Given the description of an element on the screen output the (x, y) to click on. 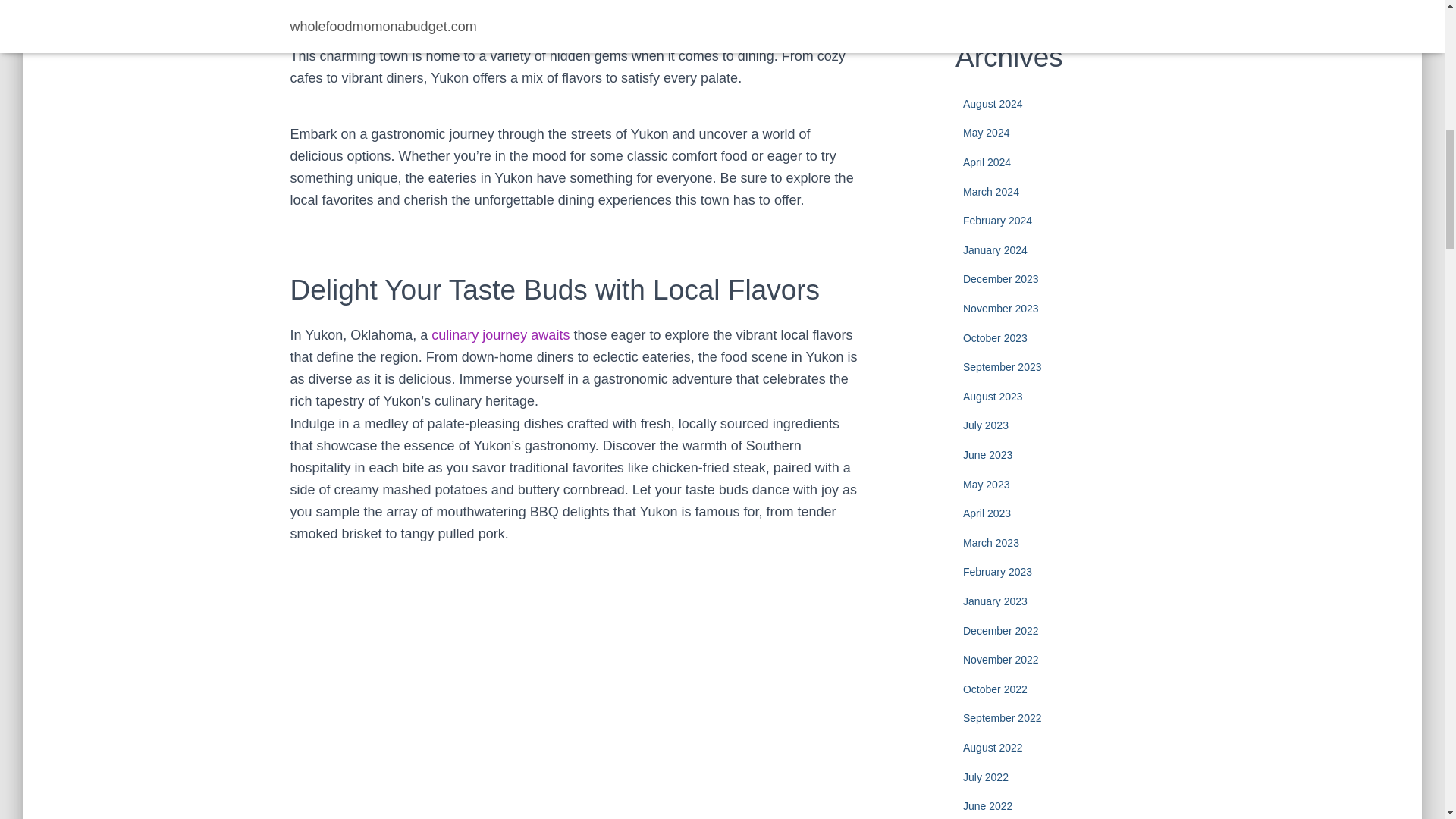
January 2024 (994, 250)
October 2023 (994, 337)
August 2024 (992, 103)
February 2024 (997, 220)
culinary journey awaits (499, 335)
May 2024 (985, 132)
food valdosta ga (499, 335)
November 2023 (1000, 308)
Hello world! (1066, 4)
March 2024 (990, 191)
